Given the description of an element on the screen output the (x, y) to click on. 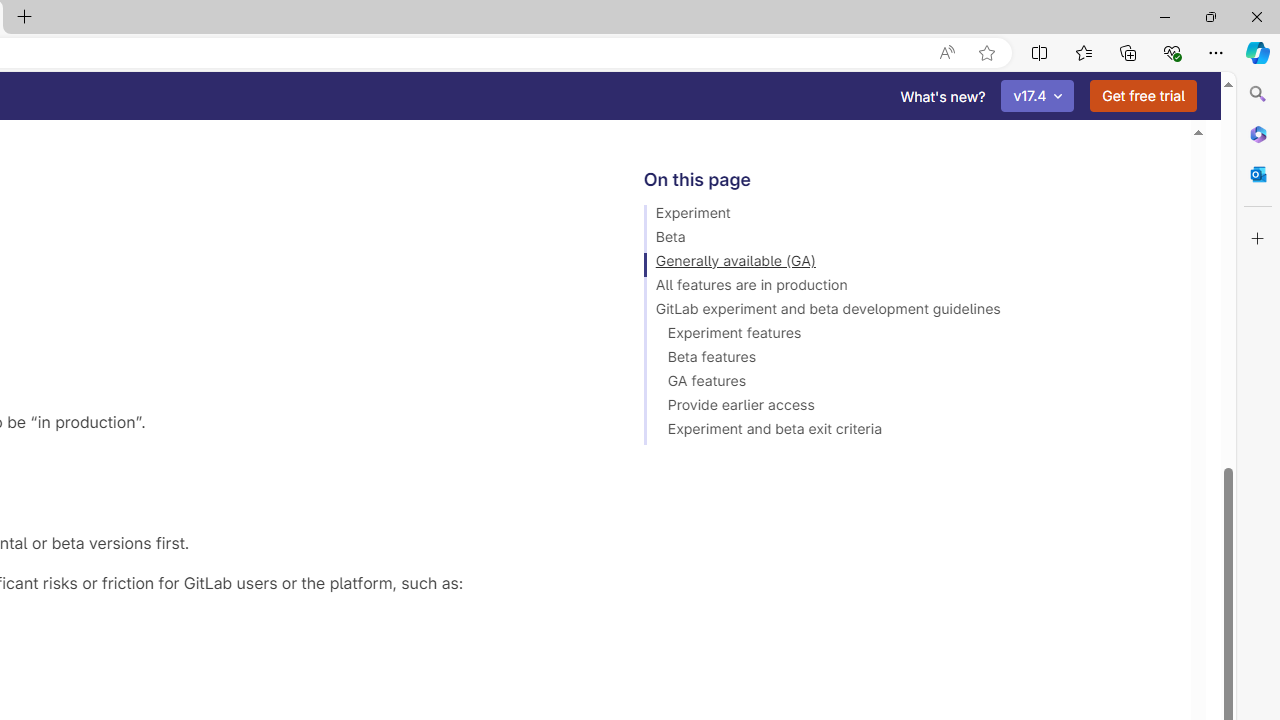
All features are in production (908, 287)
Generally available (GA) (908, 264)
Experiment (908, 215)
Provide earlier access (908, 408)
Get free trial (1143, 95)
Experiment and beta exit criteria (908, 431)
Experiment (908, 215)
Get free trial (1143, 95)
Beta features (908, 359)
Beta (908, 240)
